Given the description of an element on the screen output the (x, y) to click on. 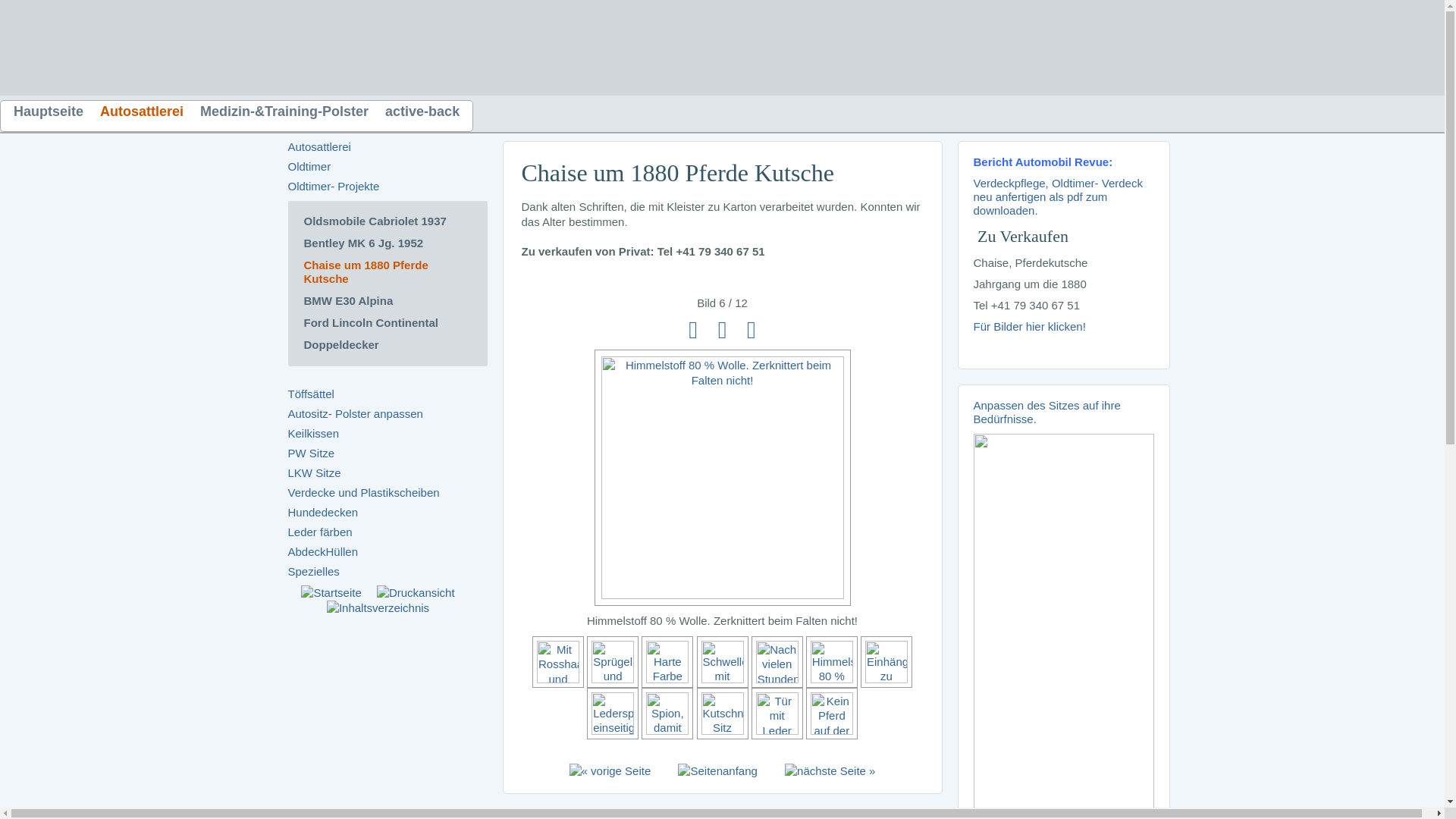
Kutschner Sitz echt Leder Element type: hover (723, 730)
Himmelstoff 80 % Wolle. Zerknittert beim Falten nicht! Element type: hover (833, 678)
Startseite Element type: hover (330, 592)
Druckansicht Element type: hover (415, 592)
Hauptseite Element type: text (48, 114)
Harte Farbe wird abgeschlifen Element type: hover (668, 678)
Verdecke und Plastikscheiben Element type: text (363, 492)
Oldtimer- Projekte Element type: text (333, 185)
LKW Sitze Element type: text (314, 472)
active-back Element type: text (422, 114)
Himmelstoff 80 % Wolle. Zerknittert beim Falten nicht! Element type: hover (722, 594)
Autositz- Polster anpassen Element type: text (355, 413)
Hundedecken Element type: text (323, 511)
Himmelstoff 80 % Wolle. Zerknittert beim Falten nicht! Element type: hover (722, 477)
Seitenanfang Element type: hover (716, 770)
Autosattlerei Element type: text (319, 146)
Keilkissen Element type: text (313, 432)
Kein Pferd auf der Lohnliste. Ausfahrt wird vertagt.  Element type: hover (831, 730)
BMW E30 Alpina Element type: text (347, 300)
PW Sitze Element type: text (311, 452)
Doppeldecker Element type: text (340, 344)
Spezielles Element type: text (313, 570)
Bentley MK 6 Jg. 1952 Element type: text (363, 242)
Oldtimer Element type: text (309, 166)
Inhaltsverzeichnis Element type: hover (377, 607)
Nach vielen Stunden Arbeit Element type: hover (778, 678)
Oldsmobile Cabriolet 1937 Element type: text (374, 220)
Medizin-&Training-Polster Element type: text (284, 114)
Mit Rosshaar und Heu gepolstert Element type: hover (559, 678)
Ford Lincoln Continental Element type: text (370, 322)
